Given the description of an element on the screen output the (x, y) to click on. 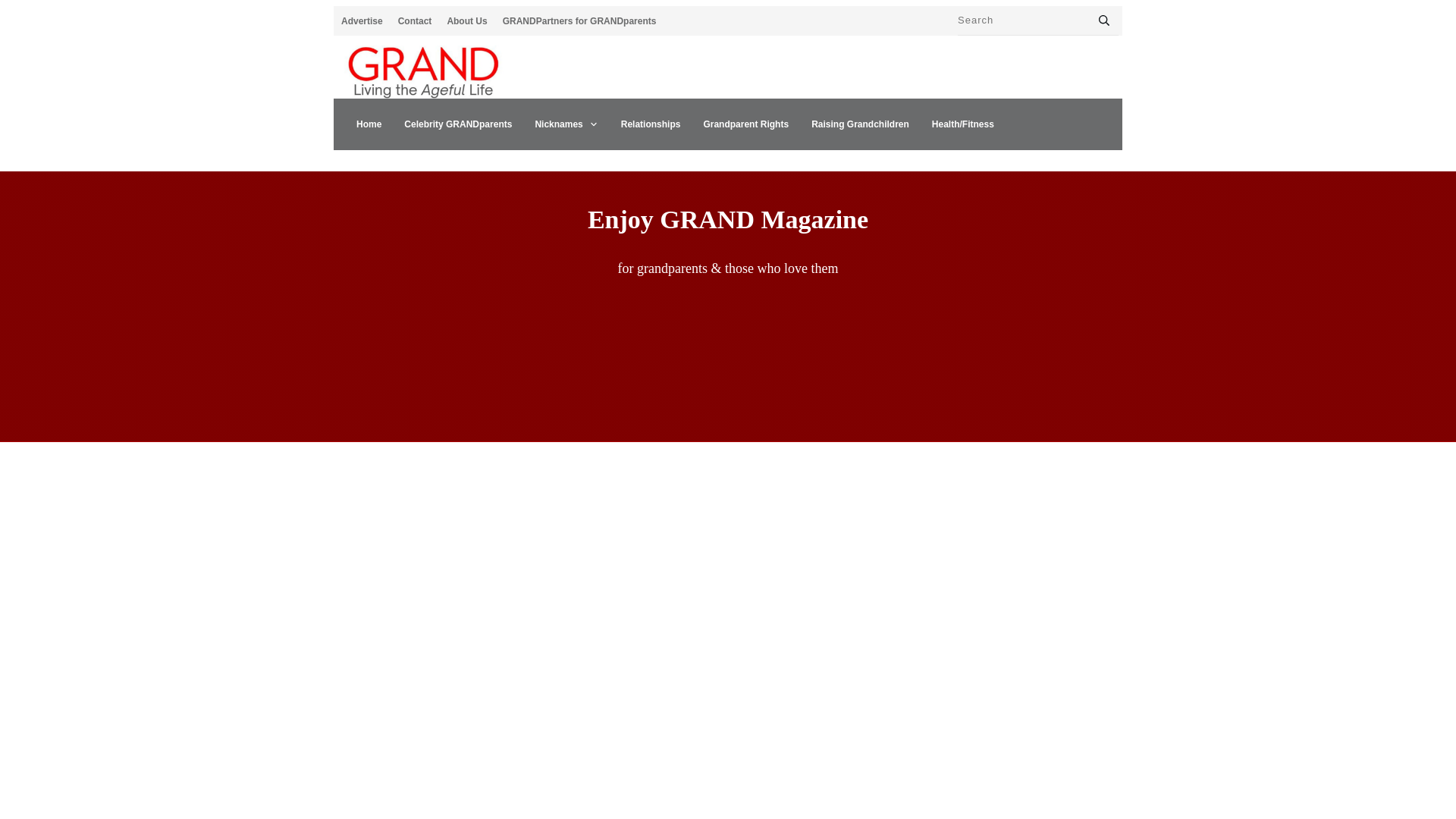
About Us (466, 21)
Nicknames (565, 124)
Contact GRAND Magazine (414, 21)
Advertise (361, 21)
Celebrity GRANDparents (458, 124)
Relationships (651, 124)
GRAND Magazine Homepage (368, 124)
Grandparents Raising Grandchildren (859, 124)
Contact (414, 21)
Advertise on Grandmagazine.com (361, 21)
